Given the description of an element on the screen output the (x, y) to click on. 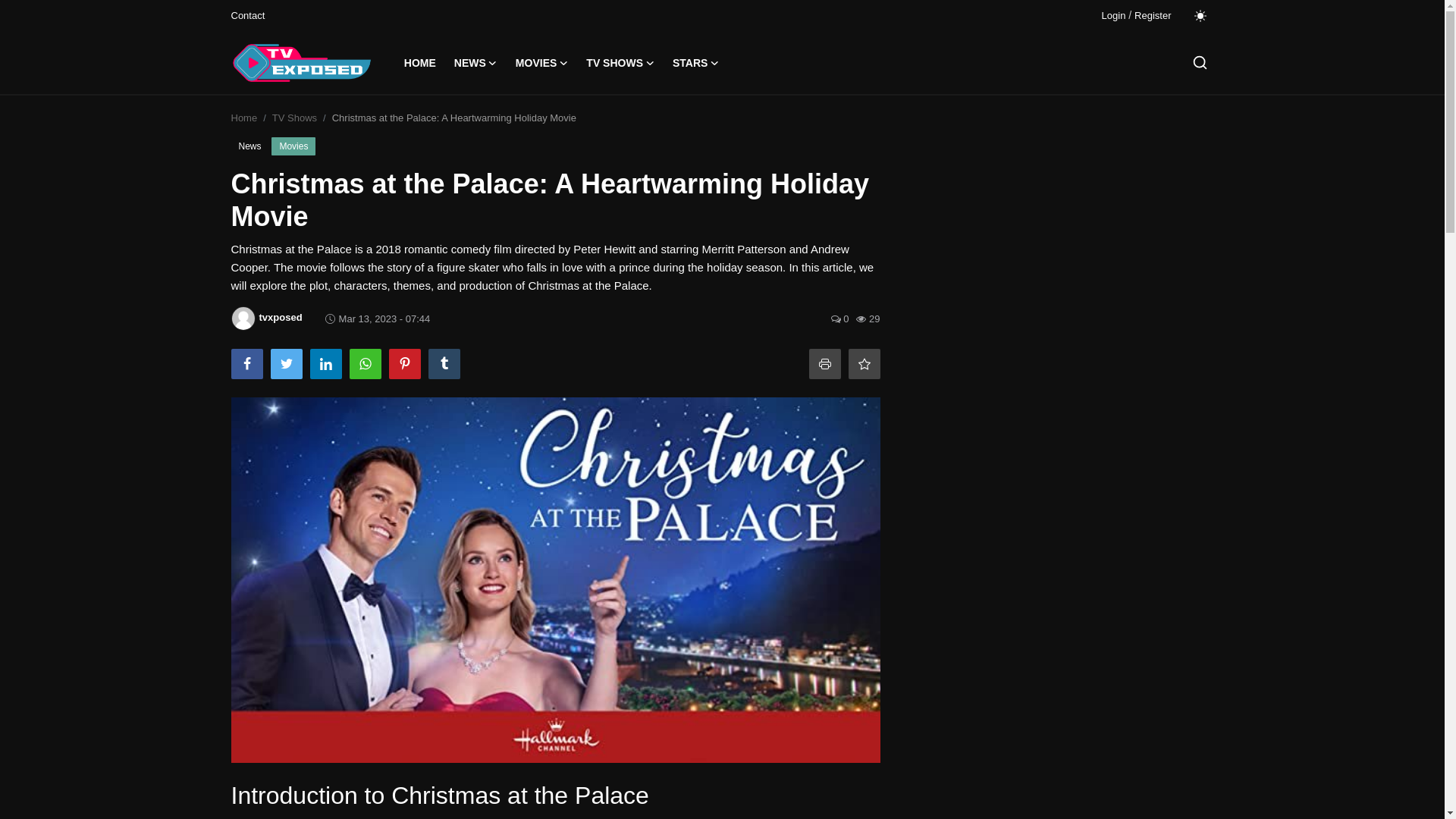
MOVIES (541, 62)
Login (1113, 15)
STARS (695, 62)
Register (1152, 15)
Contact (247, 15)
Add to Reading List (863, 363)
TV SHOWS (619, 62)
NEWS (475, 62)
light (1199, 15)
